Given the description of an element on the screen output the (x, y) to click on. 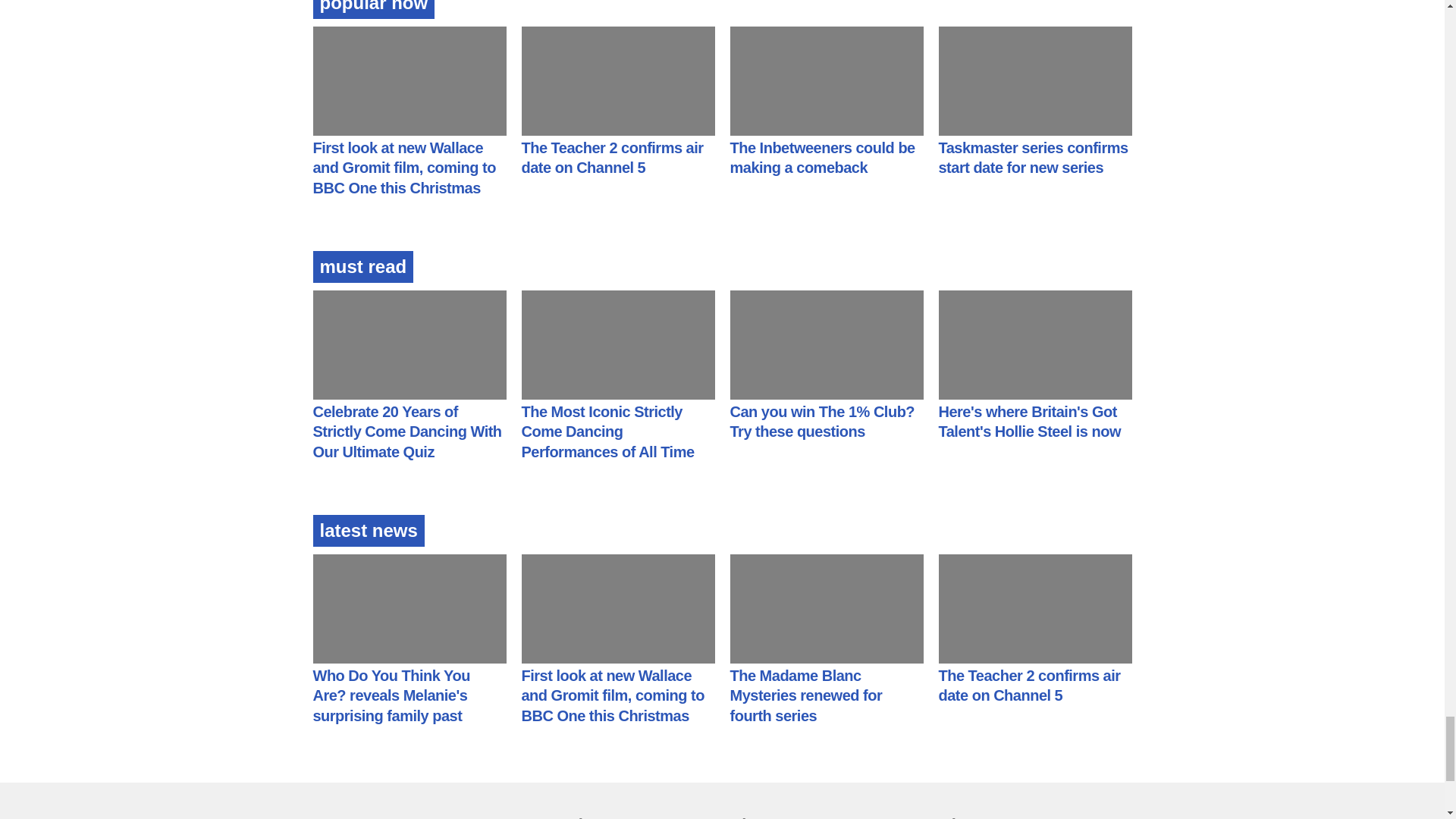
The Inbetweeners could be making a comeback (821, 157)
The Teacher 2 confirms air date on Channel 5 (612, 157)
